Given the description of an element on the screen output the (x, y) to click on. 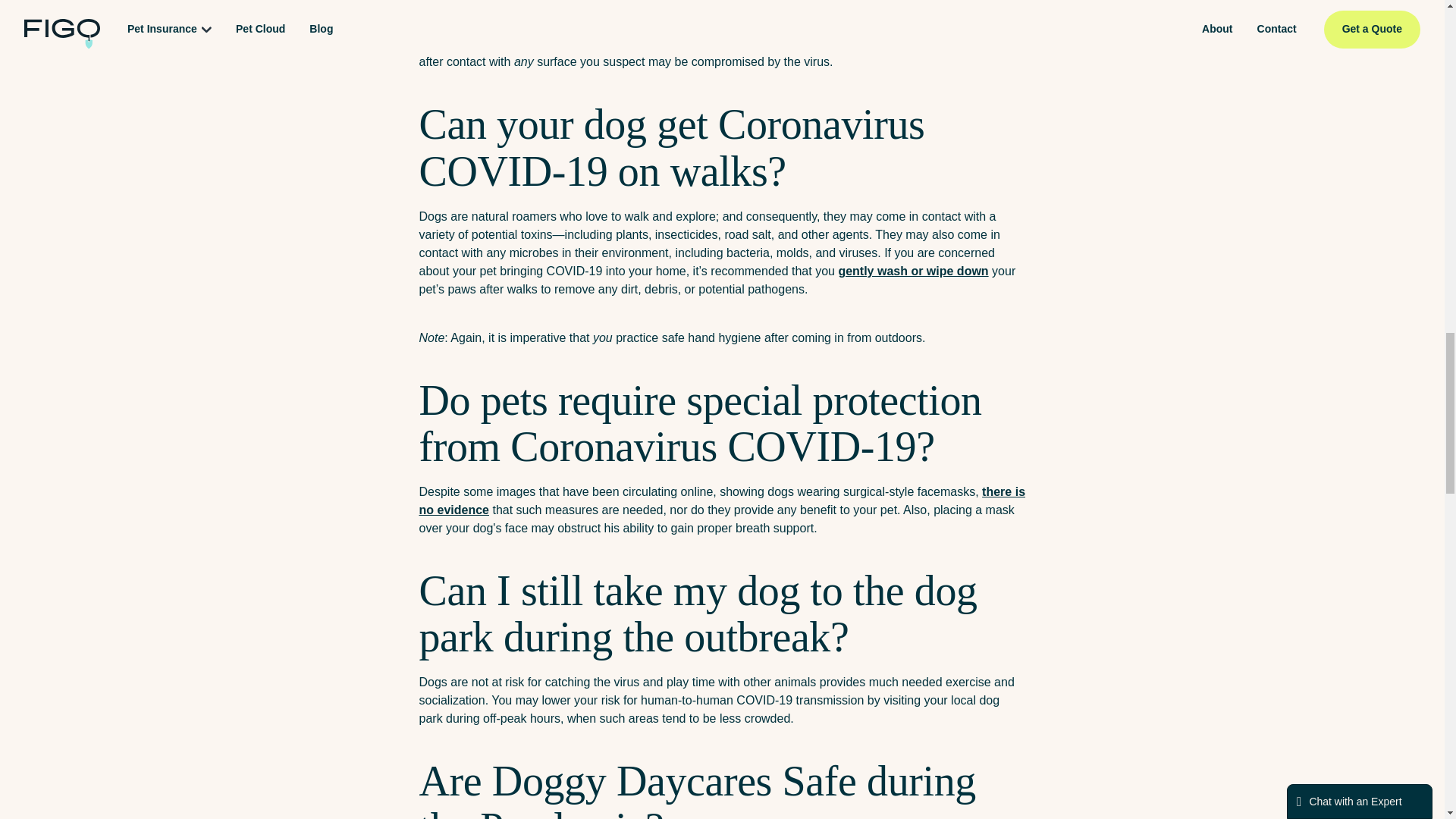
opens in a new window  (913, 270)
opens in a new window  (804, 6)
opens in a new window  (722, 500)
there is no evidence (722, 500)
by touching your pet (804, 6)
gently wash or wipe down (913, 270)
